Given the description of an element on the screen output the (x, y) to click on. 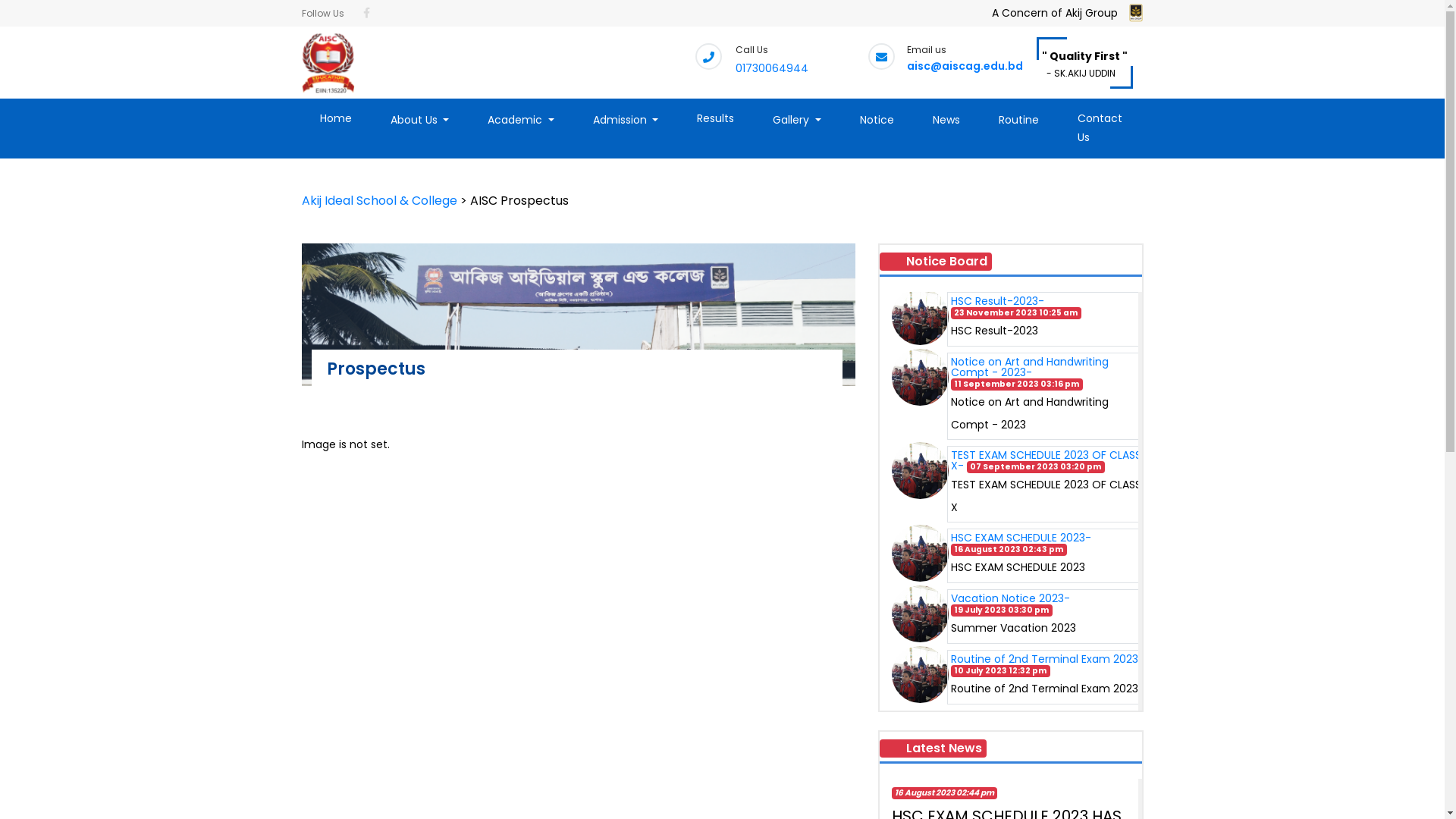
HSC Result-2023- 23 November 2023 10:25 am Element type: text (1015, 306)
Admission Element type: text (625, 119)
Notice Element type: text (876, 119)
Gallery Element type: text (796, 119)
About Us Element type: text (419, 119)
01730064944 Element type: text (771, 67)
Akij Ideal School & College Element type: text (380, 200)
HSC EXAM SCHEDULE 2023- 16 August 2023 02:43 pm Element type: text (1020, 542)
Vacation Notice 2023- 19 July 2023 03:30 pm Element type: text (1010, 603)
Routine of 2nd Terminal Exam 2023- 10 July 2023 12:32 pm Element type: text (1047, 664)
News Element type: text (946, 119)
Home
(current) Element type: text (335, 118)
Routine Element type: text (1018, 119)
A Concern of Akij Group Element type: text (1054, 21)
Academic Element type: text (520, 119)
Results Element type: text (715, 118)
aisc@aiscag.edu.bd Element type: text (964, 65)
Contact Us Element type: text (1099, 128)
